Given the description of an element on the screen output the (x, y) to click on. 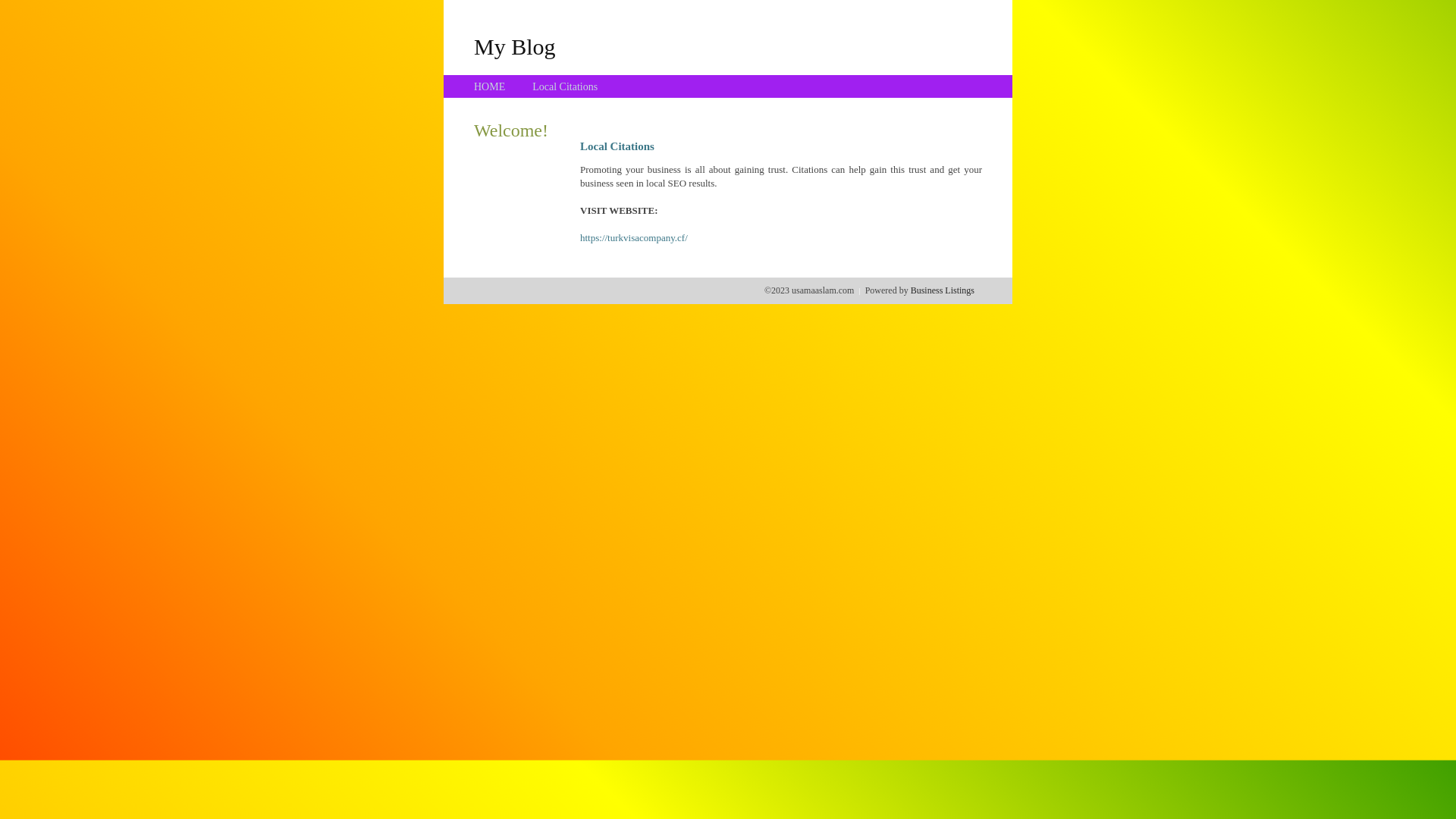
Local Citations Element type: text (564, 86)
Business Listings Element type: text (942, 290)
My Blog Element type: text (514, 46)
https://turkvisacompany.cf/ Element type: text (633, 237)
HOME Element type: text (489, 86)
